Given the description of an element on the screen output the (x, y) to click on. 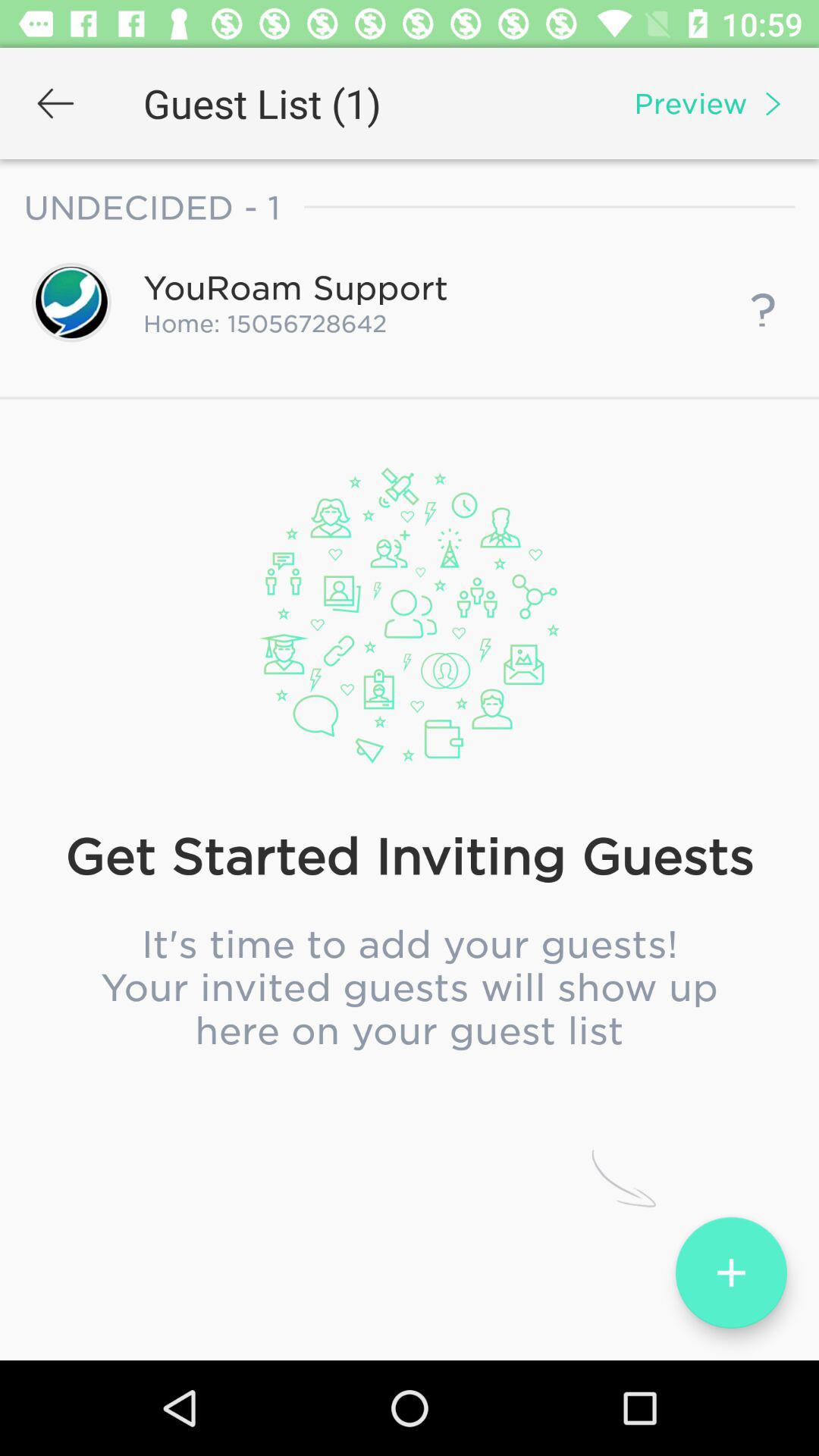
open the sat apr 15 item (409, 630)
